Given the description of an element on the screen output the (x, y) to click on. 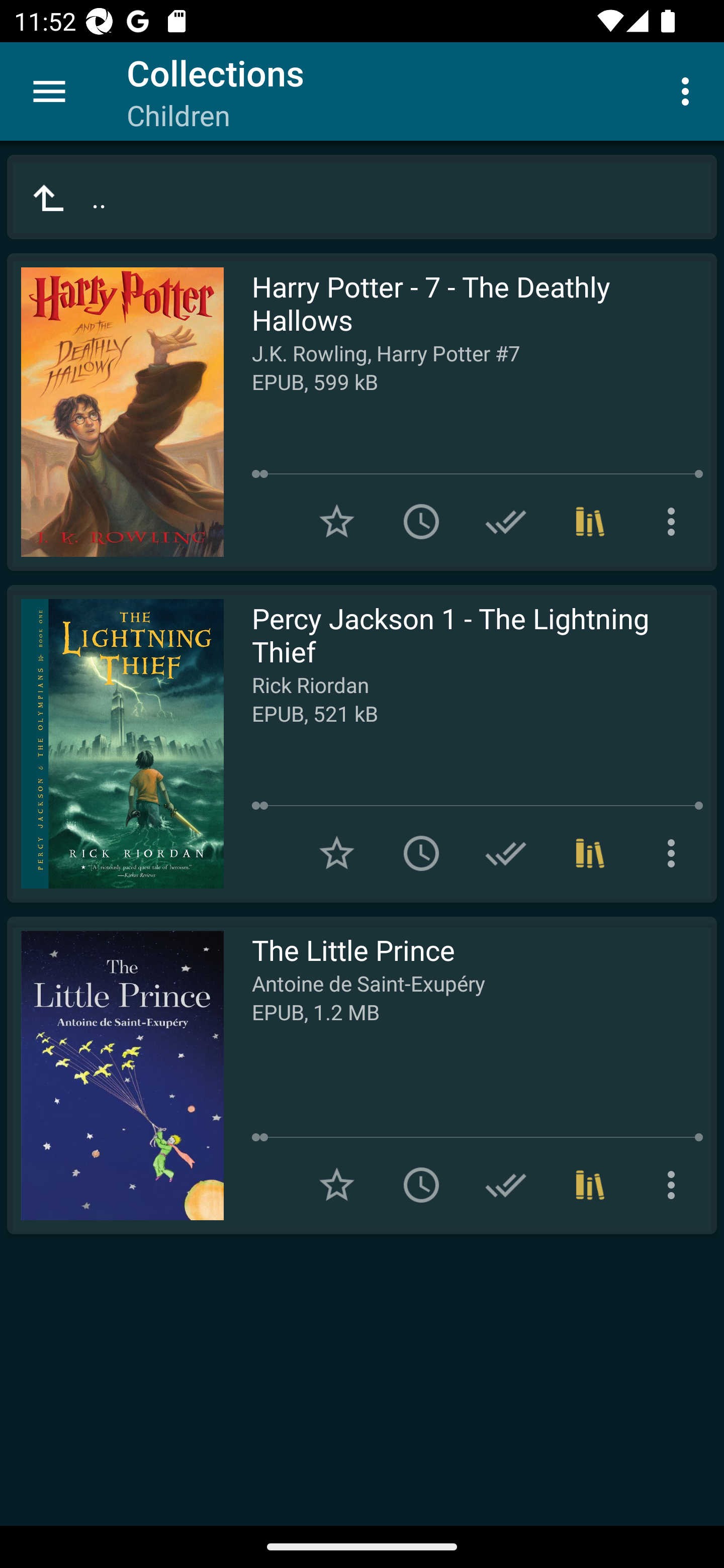
Menu (49, 91)
More options (688, 90)
.. (361, 197)
Read Harry Potter - 7 - The Deathly Hallows (115, 412)
Add to Favorites (336, 521)
Add to To read (421, 521)
Add to Have read (505, 521)
Collections (1) (590, 521)
More options (674, 521)
Read Percy Jackson 1 - The Lightning Thief (115, 743)
Add to Favorites (336, 852)
Add to To read (421, 852)
Add to Have read (505, 852)
Collections (1) (590, 852)
More options (674, 852)
Read The Little Prince (115, 1075)
Add to Favorites (336, 1185)
Add to To read (421, 1185)
Add to Have read (505, 1185)
Collections (1) (590, 1185)
More options (674, 1185)
